Given the description of an element on the screen output the (x, y) to click on. 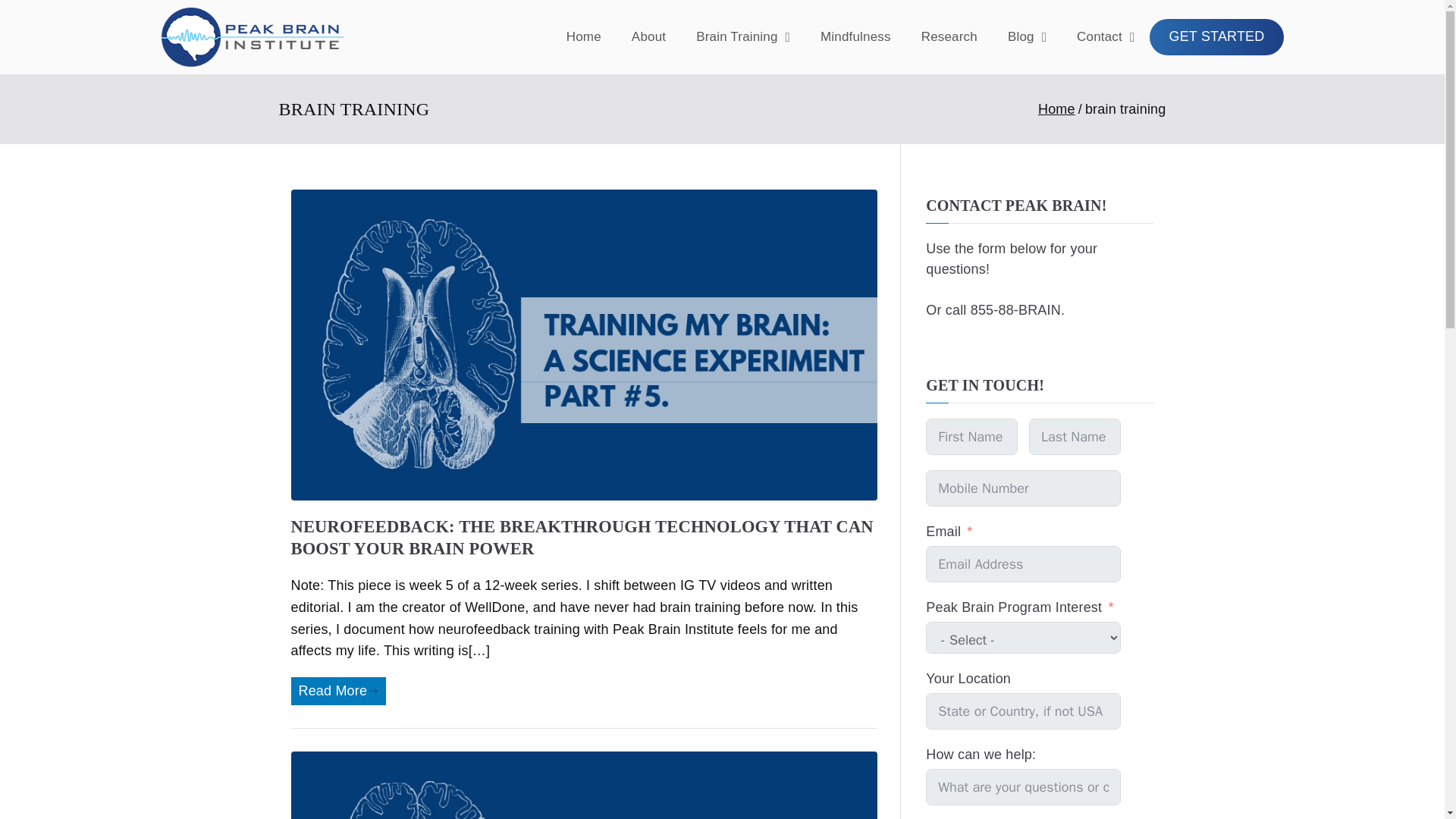
Home (583, 36)
Research (948, 36)
Contact (1105, 36)
Mindfulness (855, 36)
Read More (338, 691)
Brain Training (743, 36)
GET STARTED (1216, 36)
Home (1056, 109)
Blog (1026, 36)
About (648, 36)
